Given the description of an element on the screen output the (x, y) to click on. 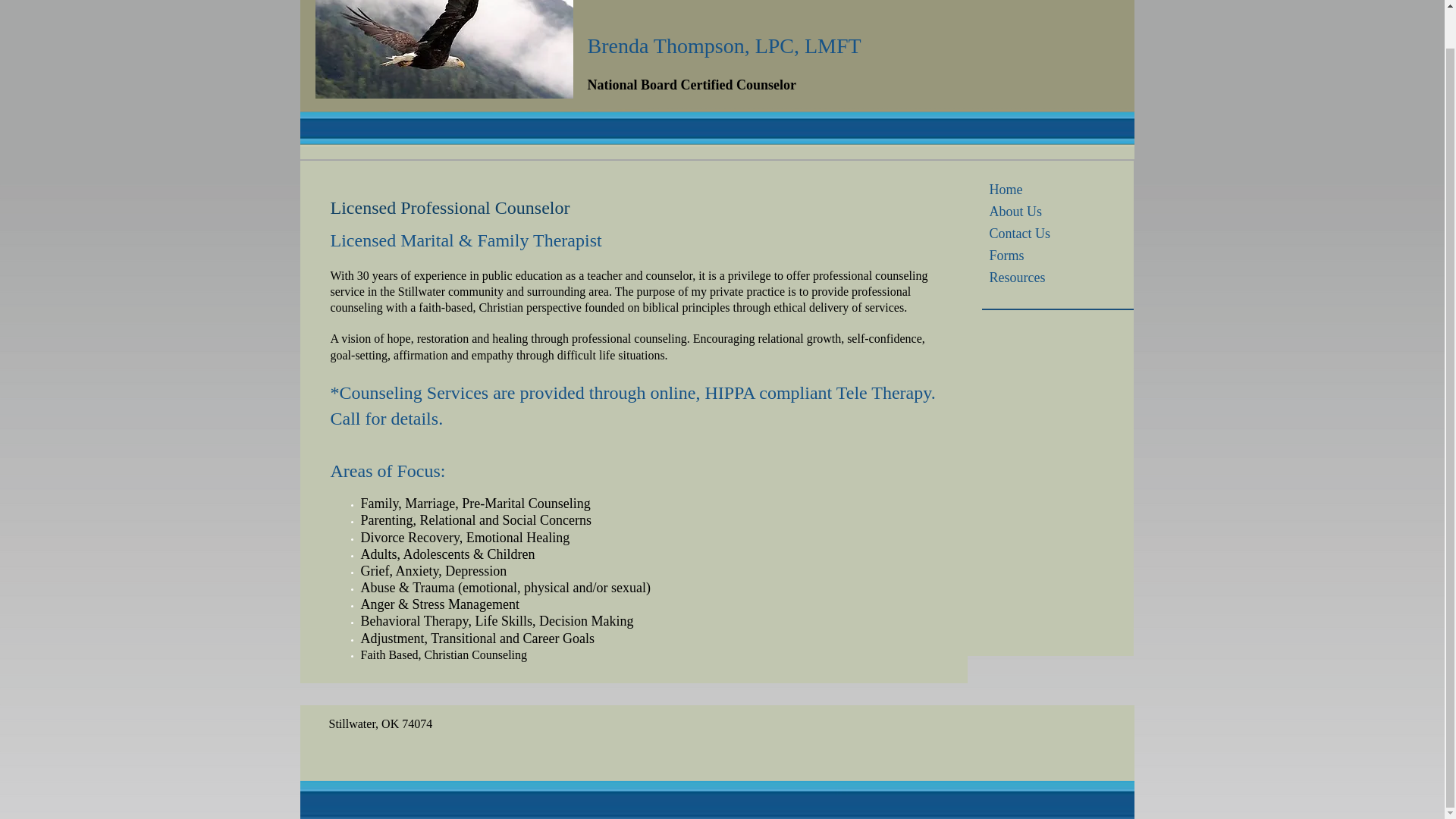
About Us (1015, 211)
Resources (1016, 277)
Home (1005, 189)
Contact Us (1019, 233)
Forms (1005, 255)
